Given the description of an element on the screen output the (x, y) to click on. 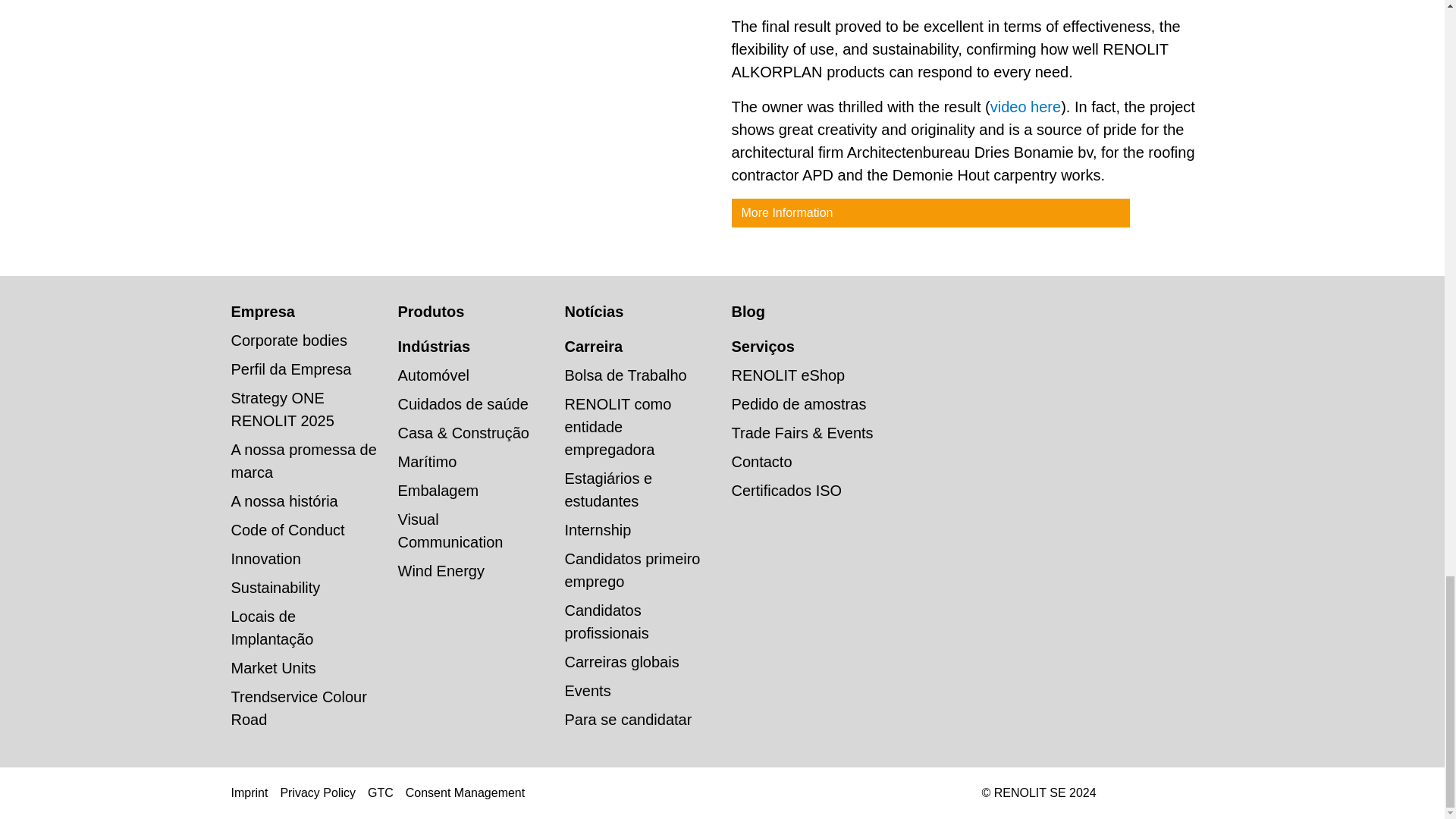
Perfil da Empresa (290, 369)
Strategy ONE RENOLIT 2025 (281, 409)
Produtos (430, 311)
Code of Conduct (286, 529)
A nossa promessa de marca (302, 460)
Sustainability (275, 587)
Corporate bodies (288, 340)
Empresa (262, 311)
Market Units (272, 668)
Innovation (264, 558)
Trendservice Colour Road (298, 708)
